Given the description of an element on the screen output the (x, y) to click on. 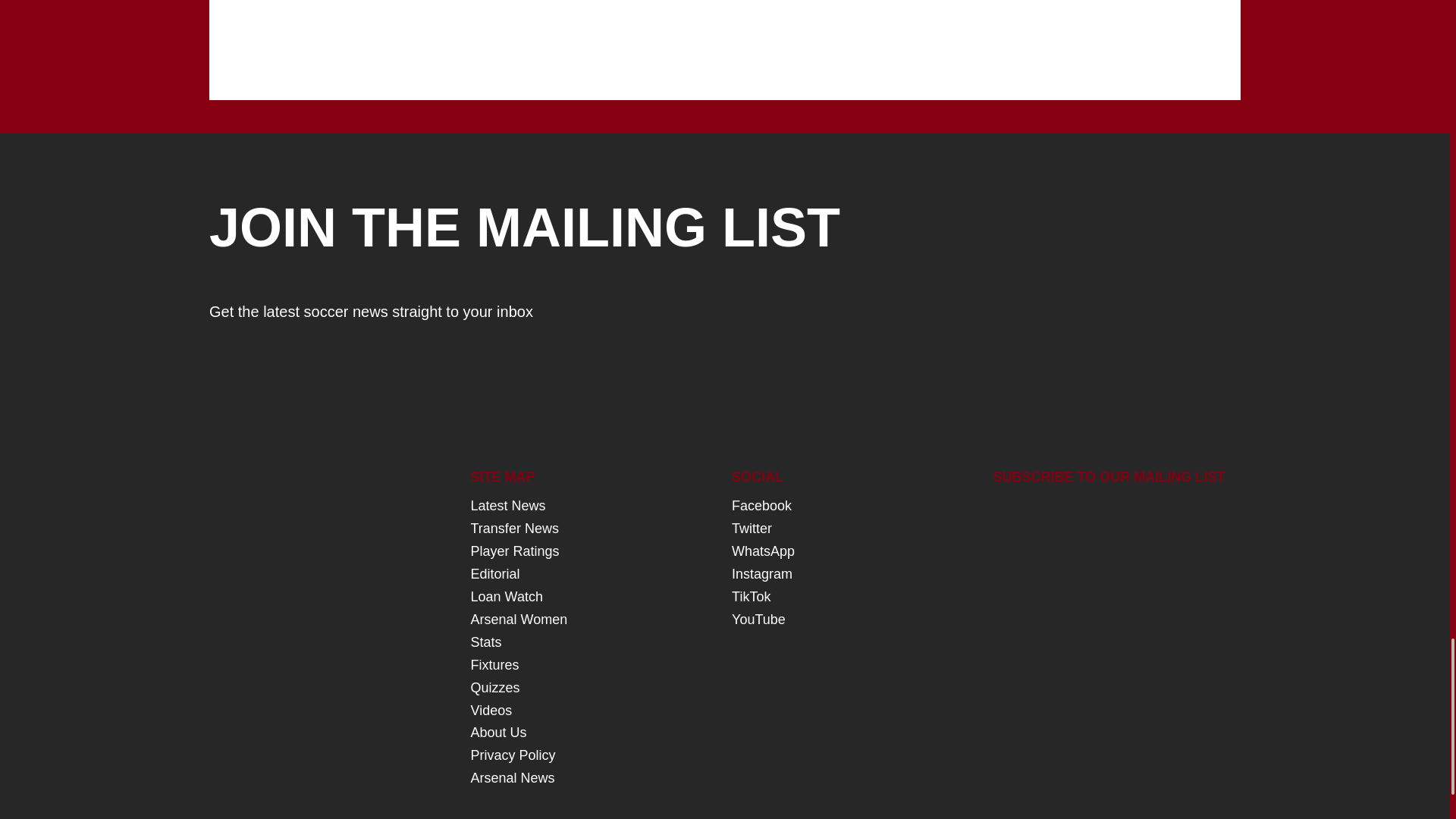
Transfer News (514, 528)
Latest News (508, 505)
Player Ratings (514, 550)
